Given the description of an element on the screen output the (x, y) to click on. 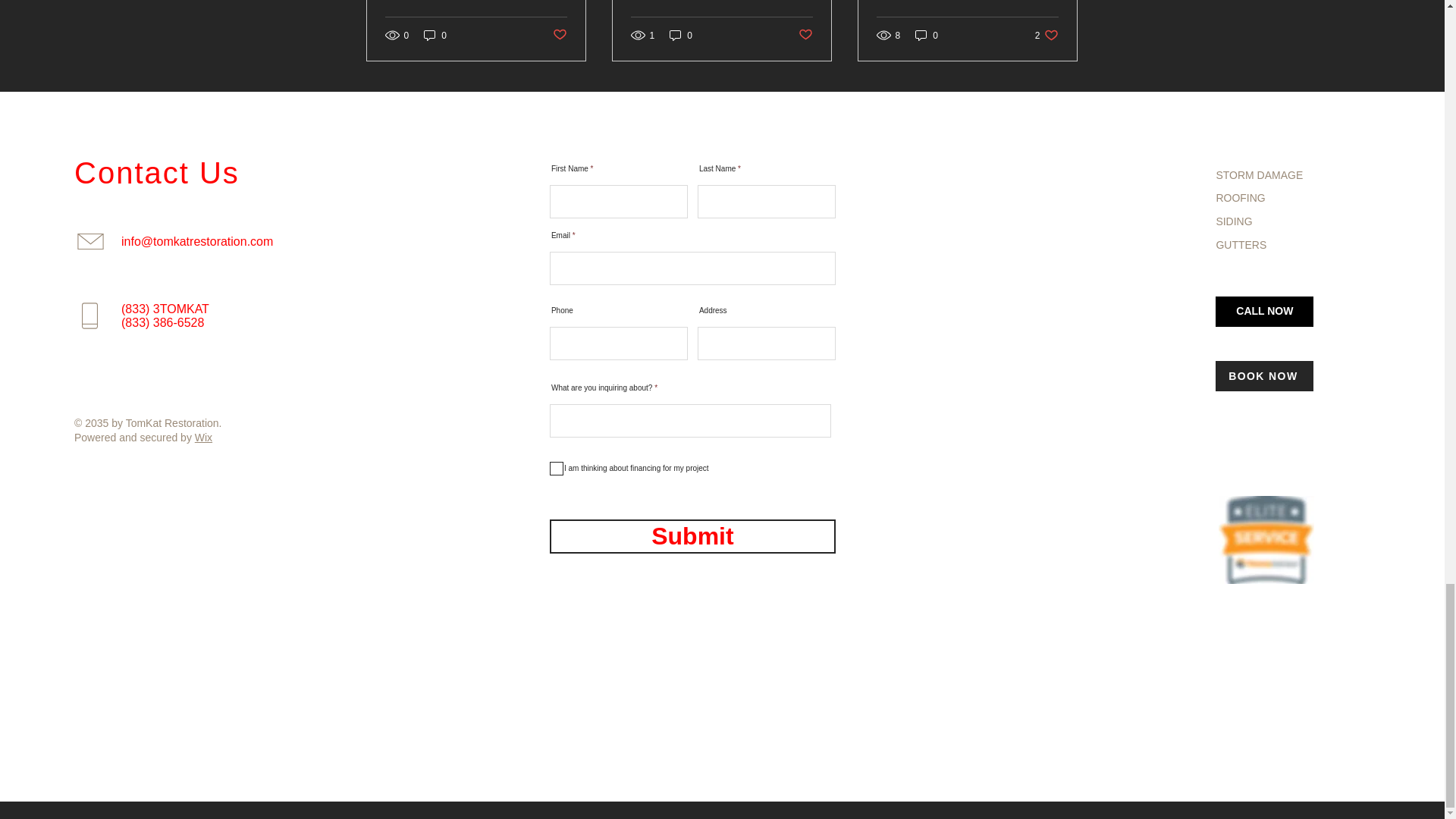
Elite Service - TomKat - AngiLeads.jpg (1266, 539)
